Given the description of an element on the screen output the (x, y) to click on. 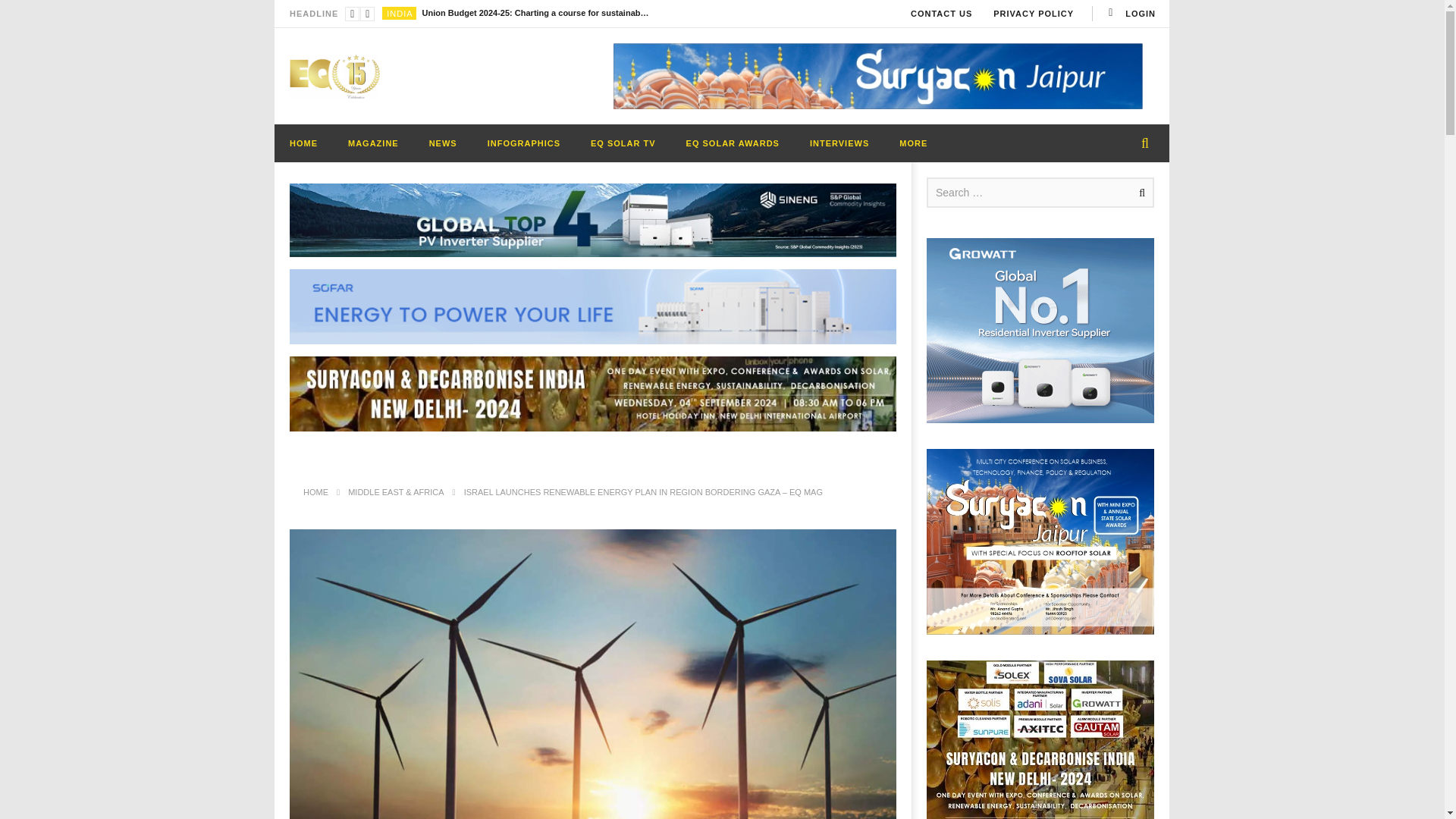
CONTACT US (940, 13)
View all posts in India (399, 13)
Search (1139, 192)
INDIA (399, 13)
Search (1139, 192)
LOGIN (1130, 13)
The Leading Solar Magazine In India (334, 76)
NEWS (442, 143)
PRIVACY POLICY (1033, 13)
HOME (304, 143)
MAGAZINE (373, 143)
